Given the description of an element on the screen output the (x, y) to click on. 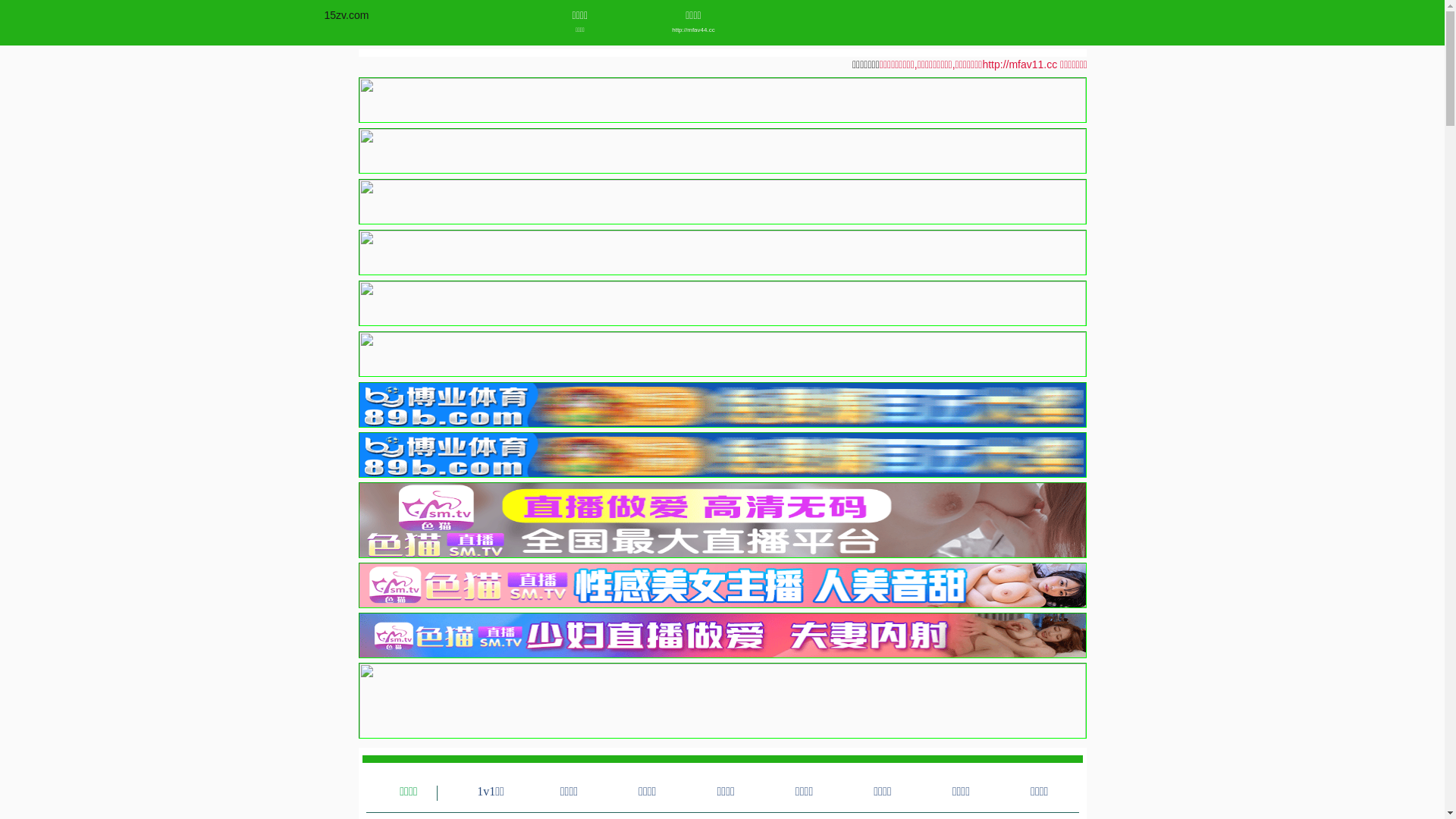
http://mfav44.cc Element type: text (693, 29)
15zv.com Element type: text (346, 15)
